Given the description of an element on the screen output the (x, y) to click on. 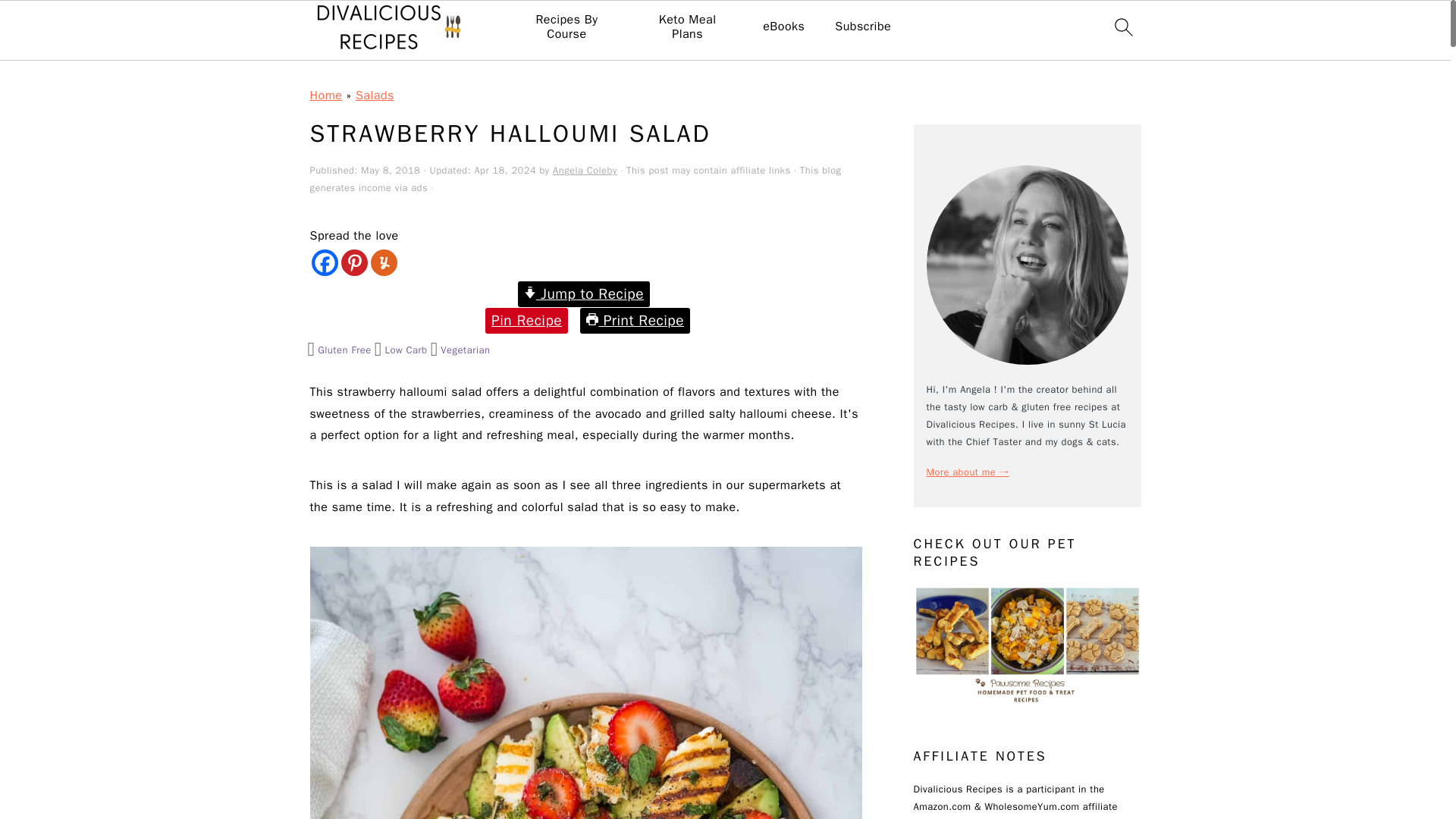
Subscribe (862, 26)
Keto Meal Plans (687, 27)
Facebook (324, 262)
Yummly (382, 262)
Recipes By Course (566, 27)
eBooks (783, 26)
Pinterest (354, 262)
search icon (1122, 26)
